Given the description of an element on the screen output the (x, y) to click on. 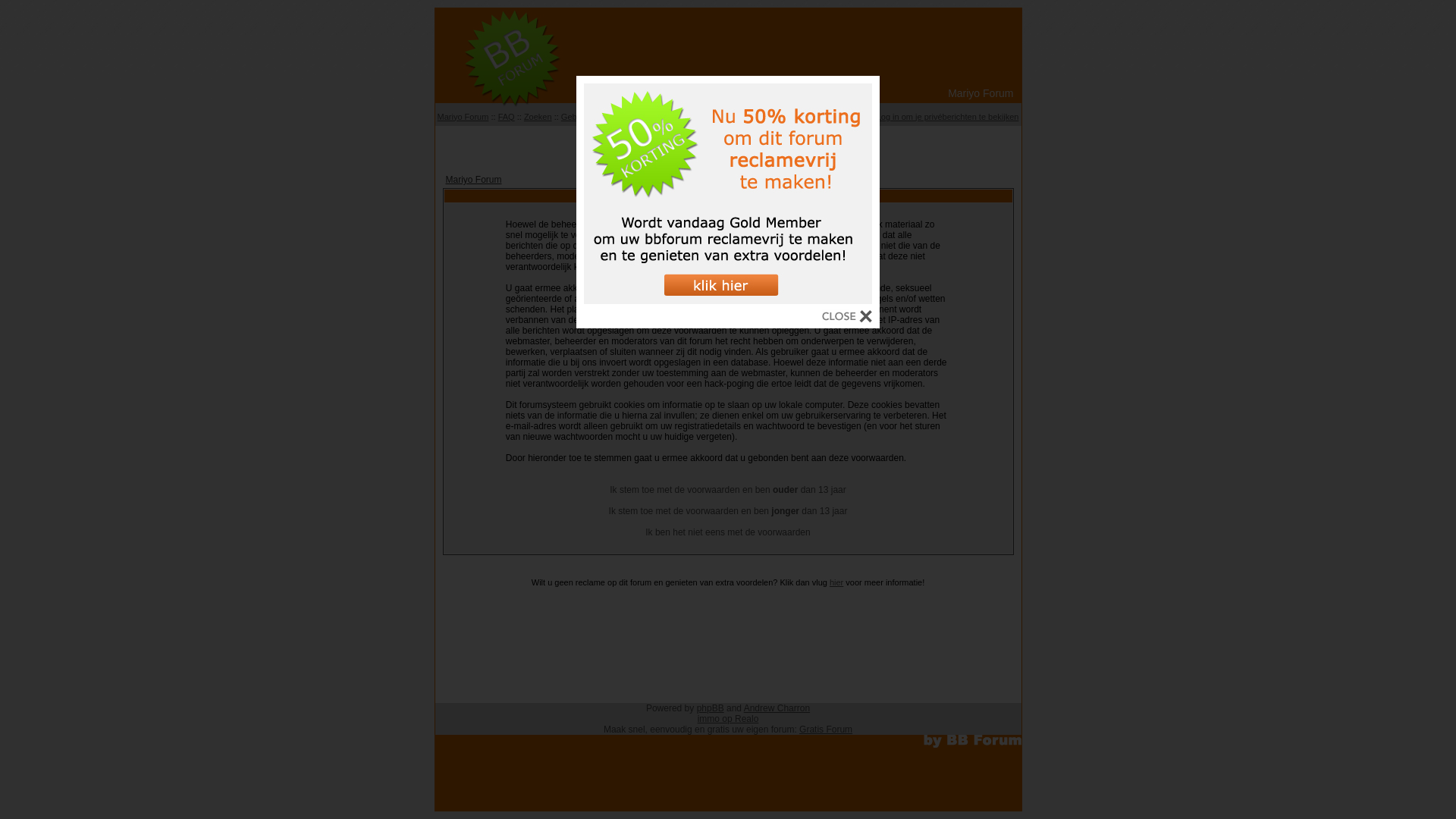
Inloggen Element type: text (818, 116)
Ik stem toe met de voorwaarden en ben ouder dan 13 jaar Element type: text (727, 489)
Registreren Element type: text (771, 116)
Mariyo Forum Element type: text (473, 179)
Profiel Element type: text (854, 116)
FAQ Element type: text (506, 116)
Ik ben het niet eens met de voorwaarden Element type: text (727, 532)
Mariyo Forum Element type: text (463, 116)
immo op Realo Element type: text (728, 718)
klik voor meer informatie Element type: hover (727, 299)
Gebruikersgroepen Element type: text (658, 116)
sluiten Element type: hover (847, 318)
Viraal Nieuws Element type: text (727, 144)
Gebruikerslijst Element type: text (587, 116)
Andrew Charron Element type: text (776, 707)
hier Element type: text (836, 581)
Zoeken Element type: text (538, 116)
Ik stem toe met de voorwaarden en ben jonger dan 13 jaar Element type: text (727, 510)
Gratis Forum Element type: text (825, 729)
phpBB Element type: text (710, 707)
